Given the description of an element on the screen output the (x, y) to click on. 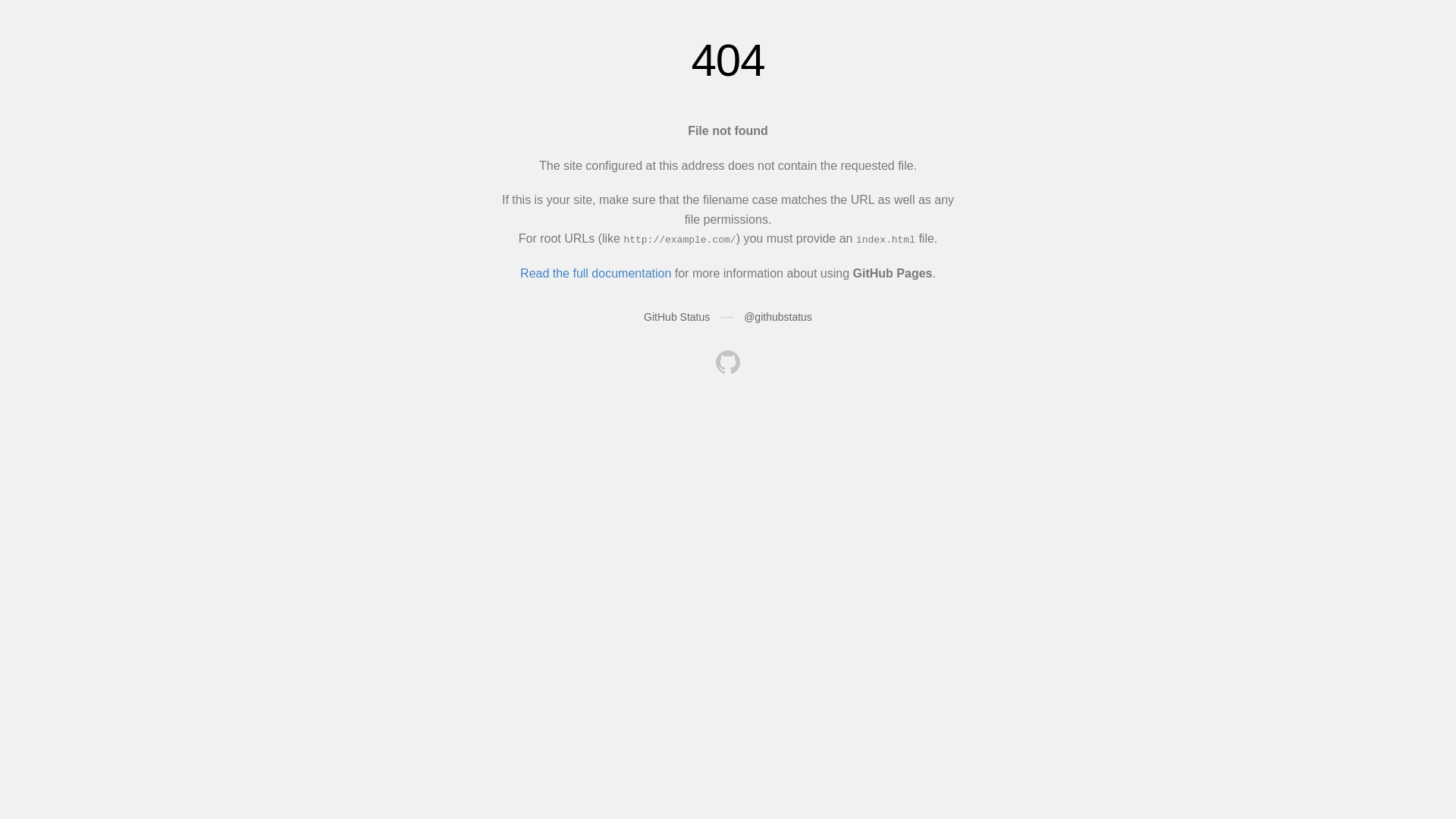
Read the full documentation Element type: text (595, 272)
GitHub Status Element type: text (676, 316)
@githubstatus Element type: text (777, 316)
